Given the description of an element on the screen output the (x, y) to click on. 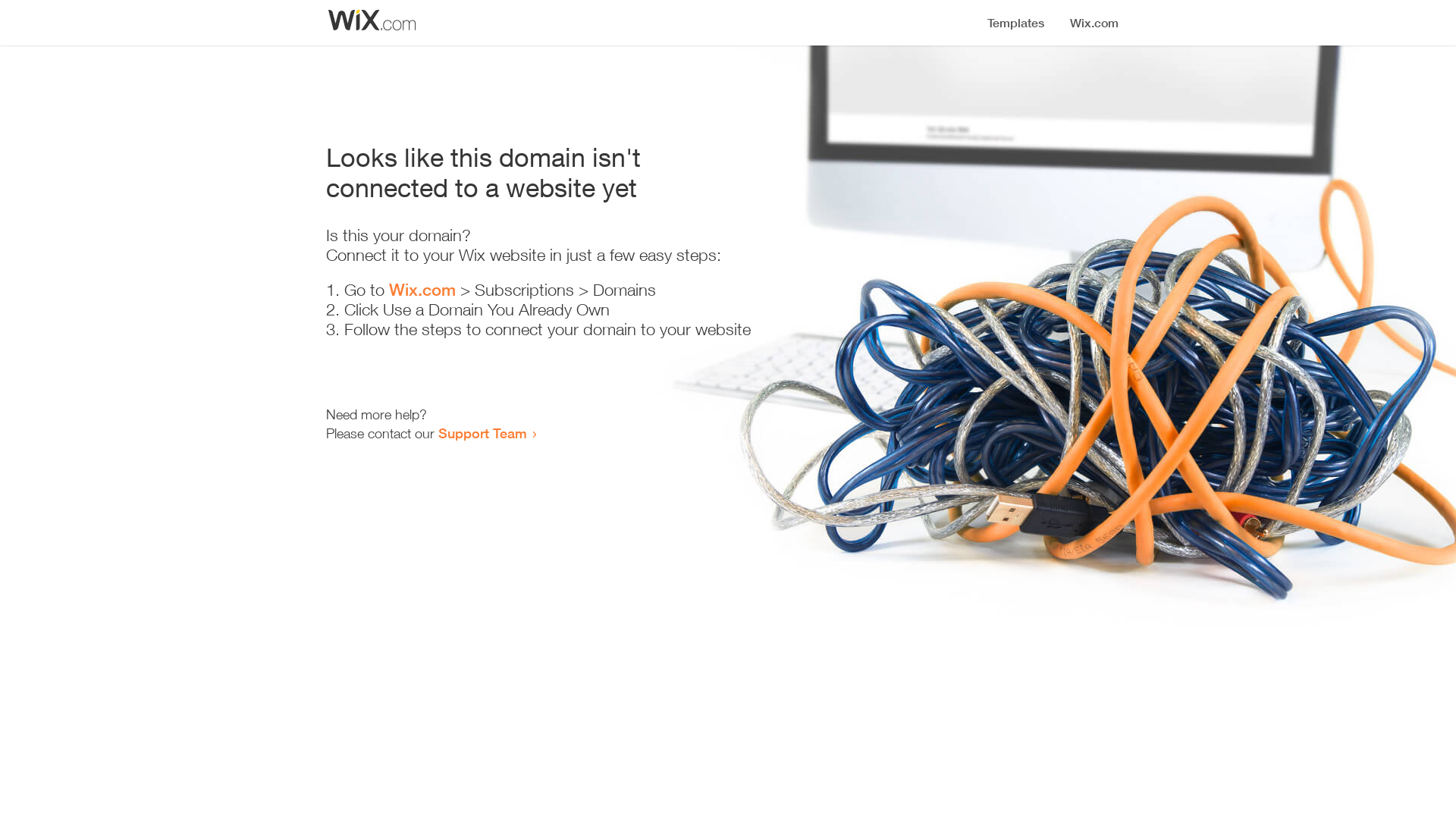
Wix.com Element type: text (422, 289)
Support Team Element type: text (482, 432)
